Given the description of an element on the screen output the (x, y) to click on. 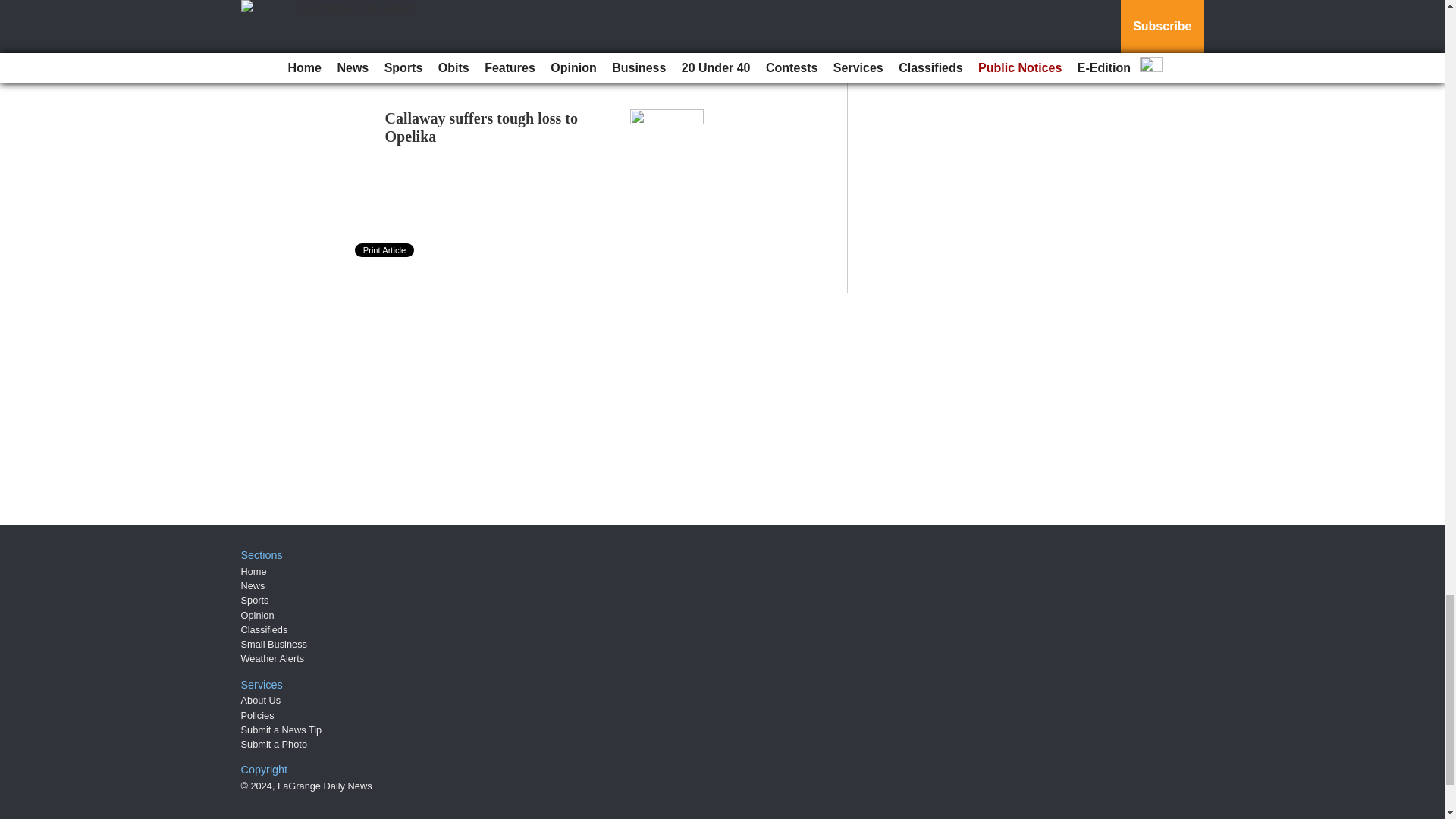
LaGrange falls to no.1 Sandy Creek in region opener (501, 5)
Callaway suffers tough loss to Opelika (481, 126)
Callaway suffers tough loss to Opelika (481, 126)
Print Article (384, 250)
LaGrange falls to no.1 Sandy Creek in region opener (501, 5)
